Given the description of an element on the screen output the (x, y) to click on. 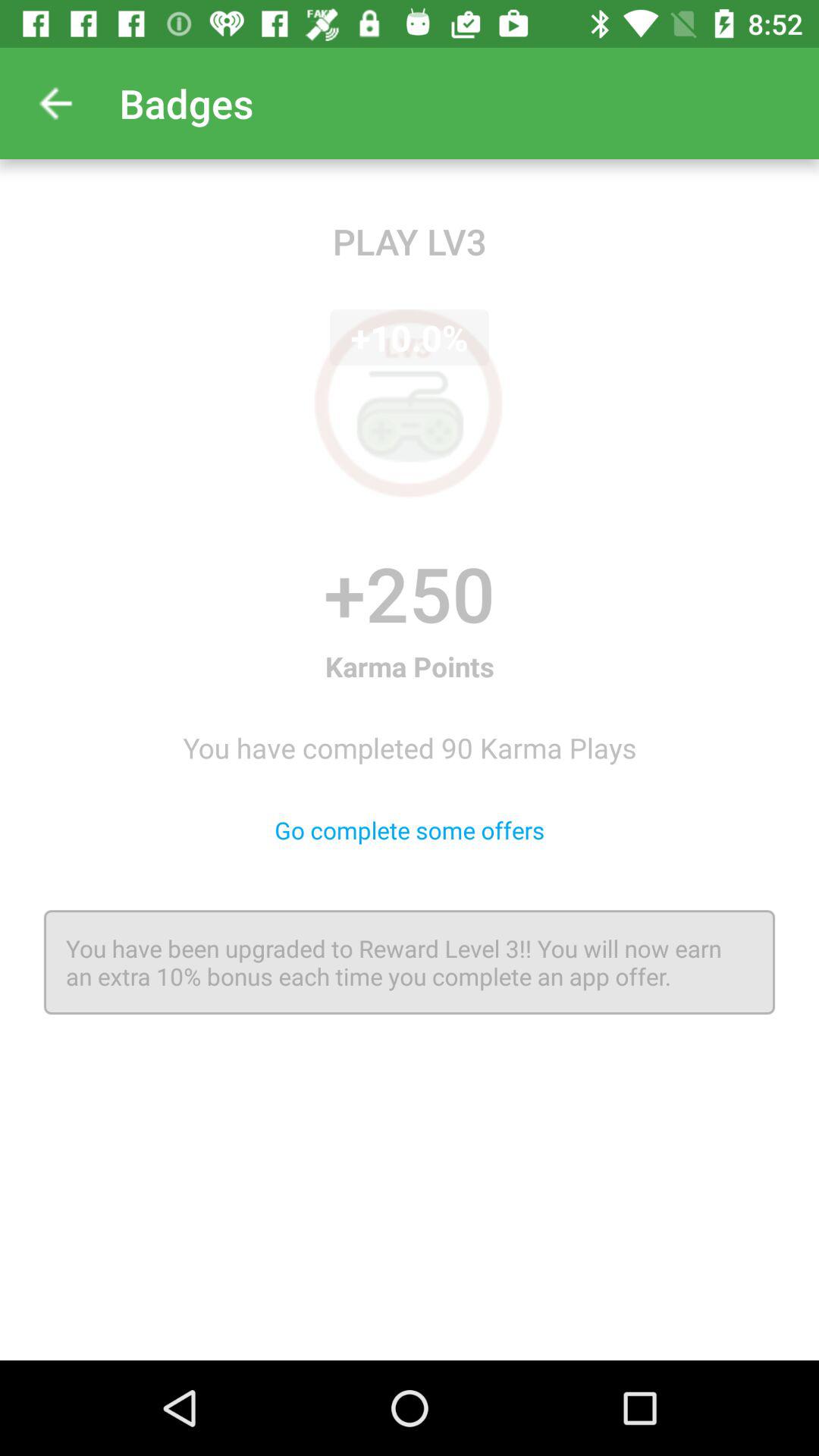
open the app next to badges (55, 103)
